Given the description of an element on the screen output the (x, y) to click on. 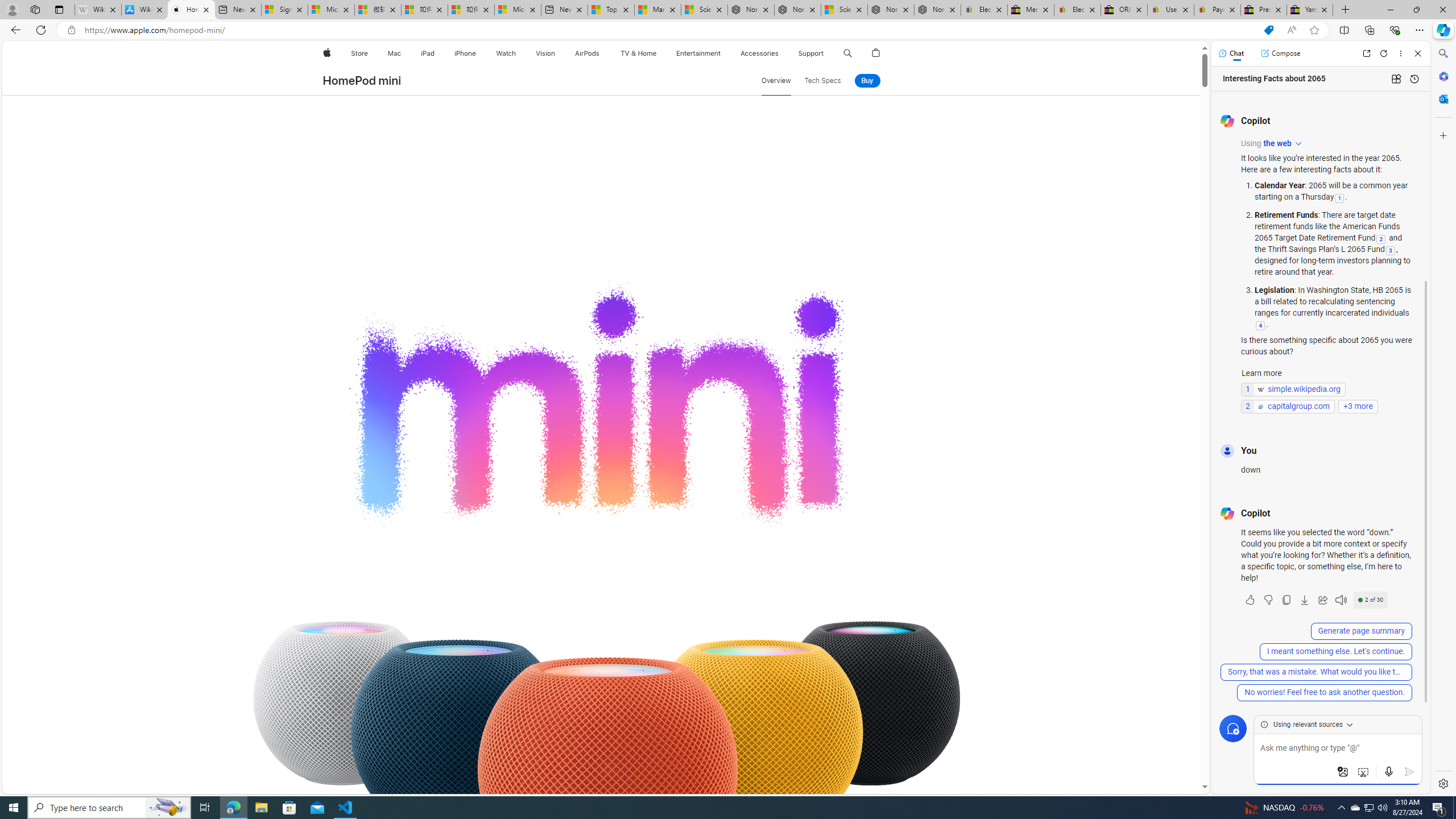
Store (359, 53)
AirPods (587, 53)
AirPods menu (601, 53)
Search apple.com (847, 53)
